Given the description of an element on the screen output the (x, y) to click on. 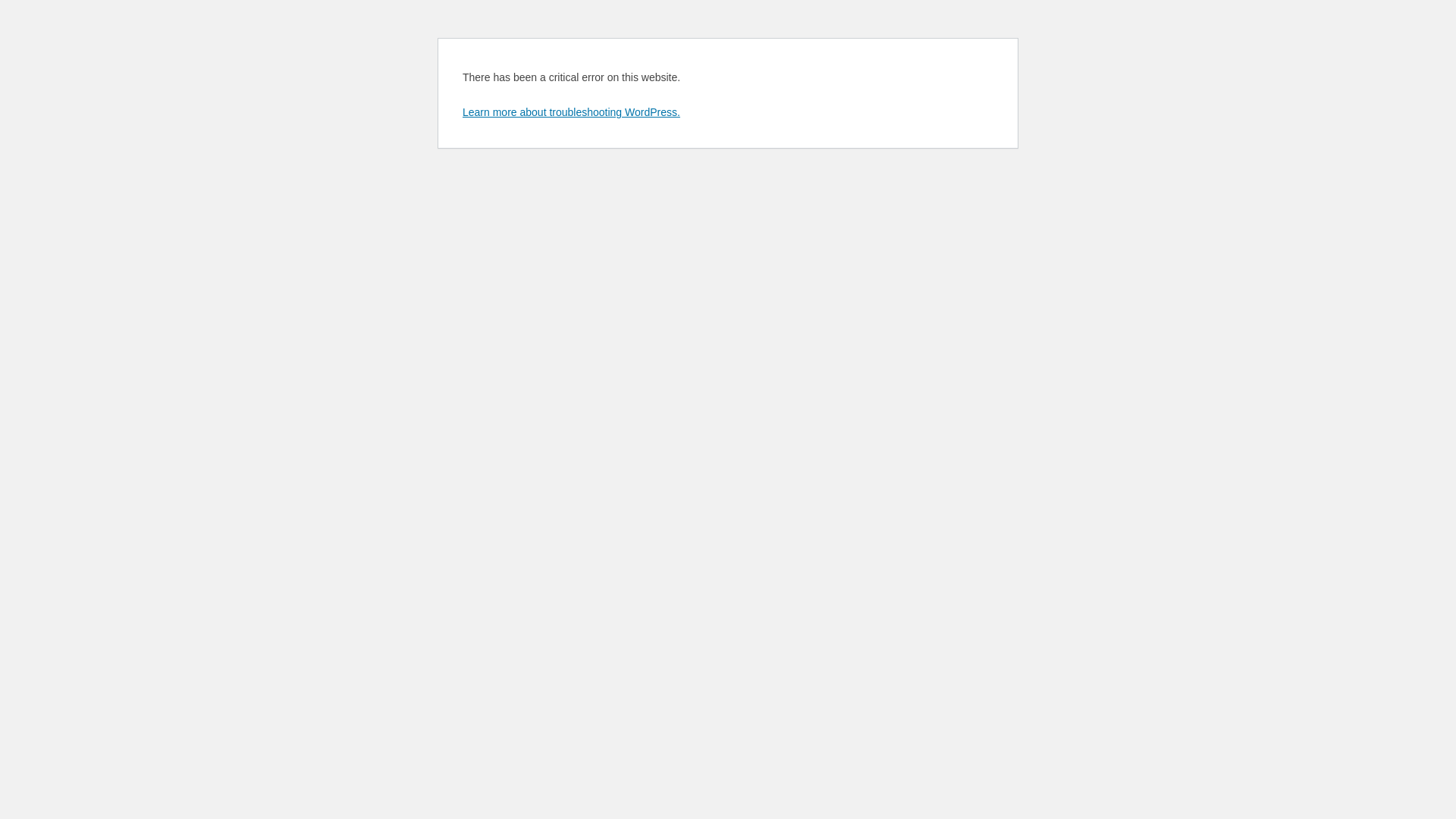
Learn more about troubleshooting WordPress. Element type: text (571, 112)
